Given the description of an element on the screen output the (x, y) to click on. 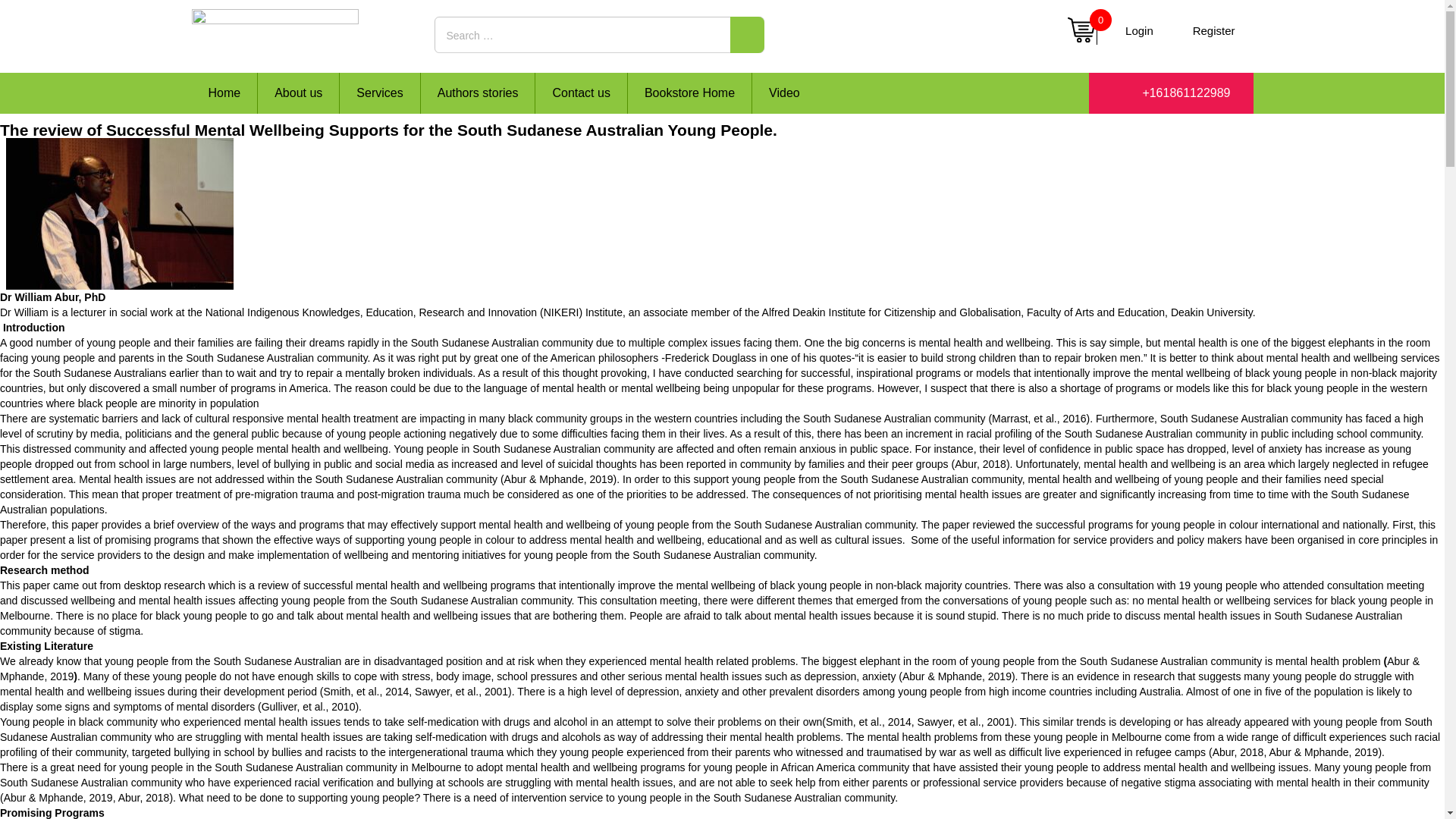
Services (379, 92)
Authors stories (477, 92)
Home (223, 92)
SEARCH (745, 34)
Video (784, 92)
Login (1139, 30)
About us (298, 92)
Bookstore Home (689, 92)
Contact us (580, 92)
Register (1213, 30)
